Given the description of an element on the screen output the (x, y) to click on. 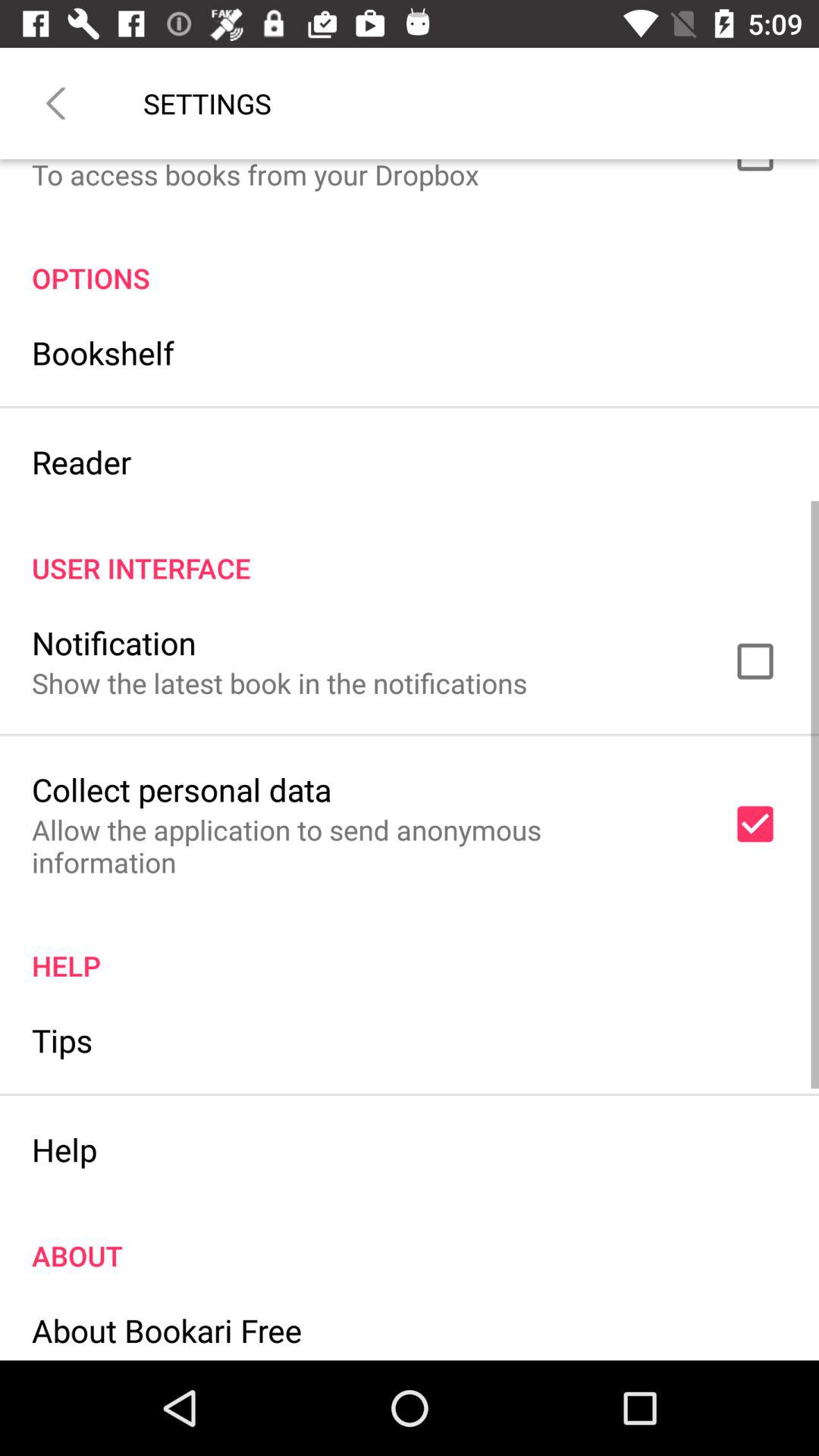
choose the icon above bookshelf item (409, 261)
